Given the description of an element on the screen output the (x, y) to click on. 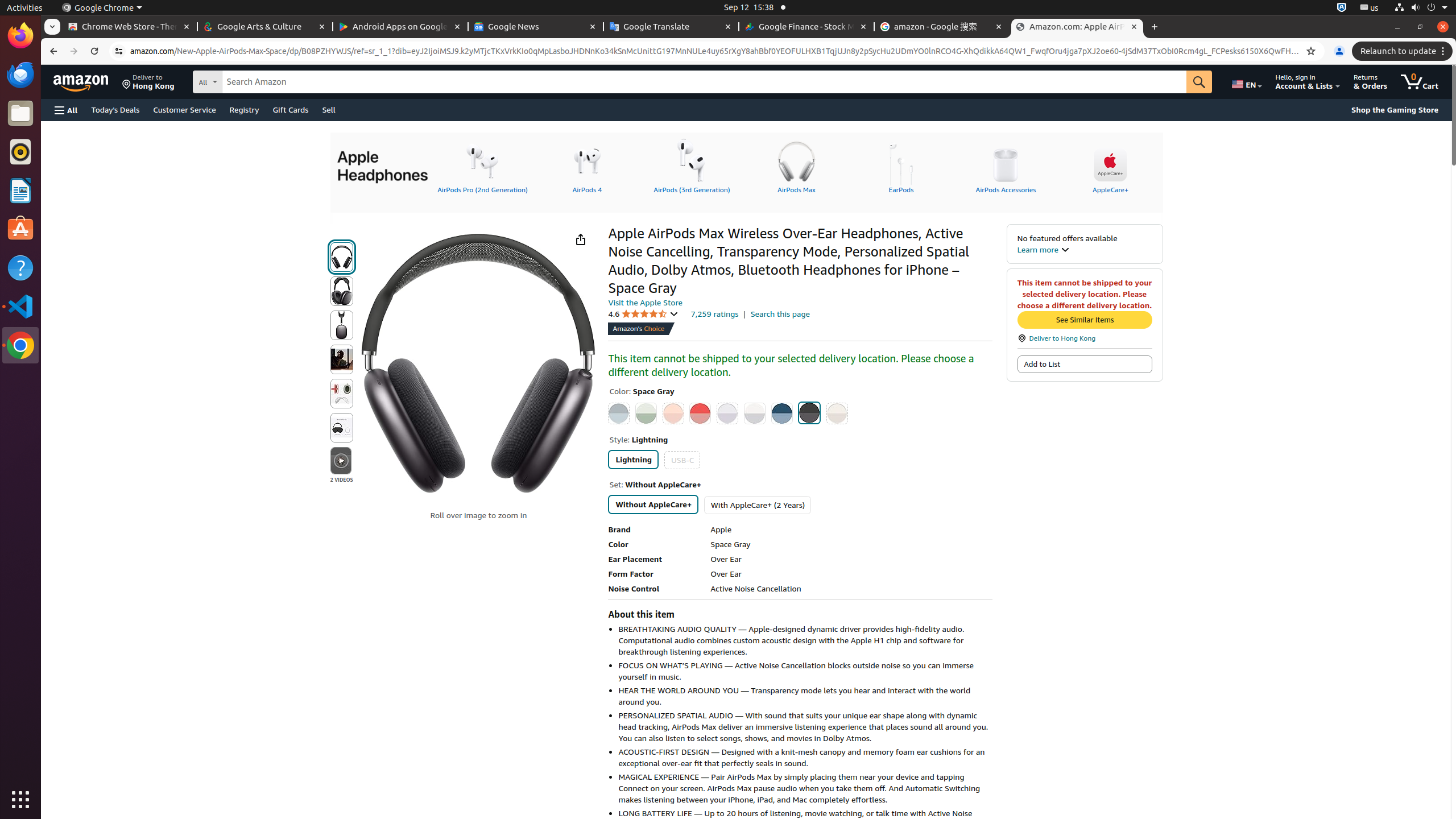
7,259 ratings Element type: link (714, 313)
Ubuntu Software Element type: push-button (20, 229)
Returns & Orders Element type: link (1370, 81)
Bookmark this tab Element type: push-button (1310, 51)
System Element type: menu (1420, 7)
